Given the description of an element on the screen output the (x, y) to click on. 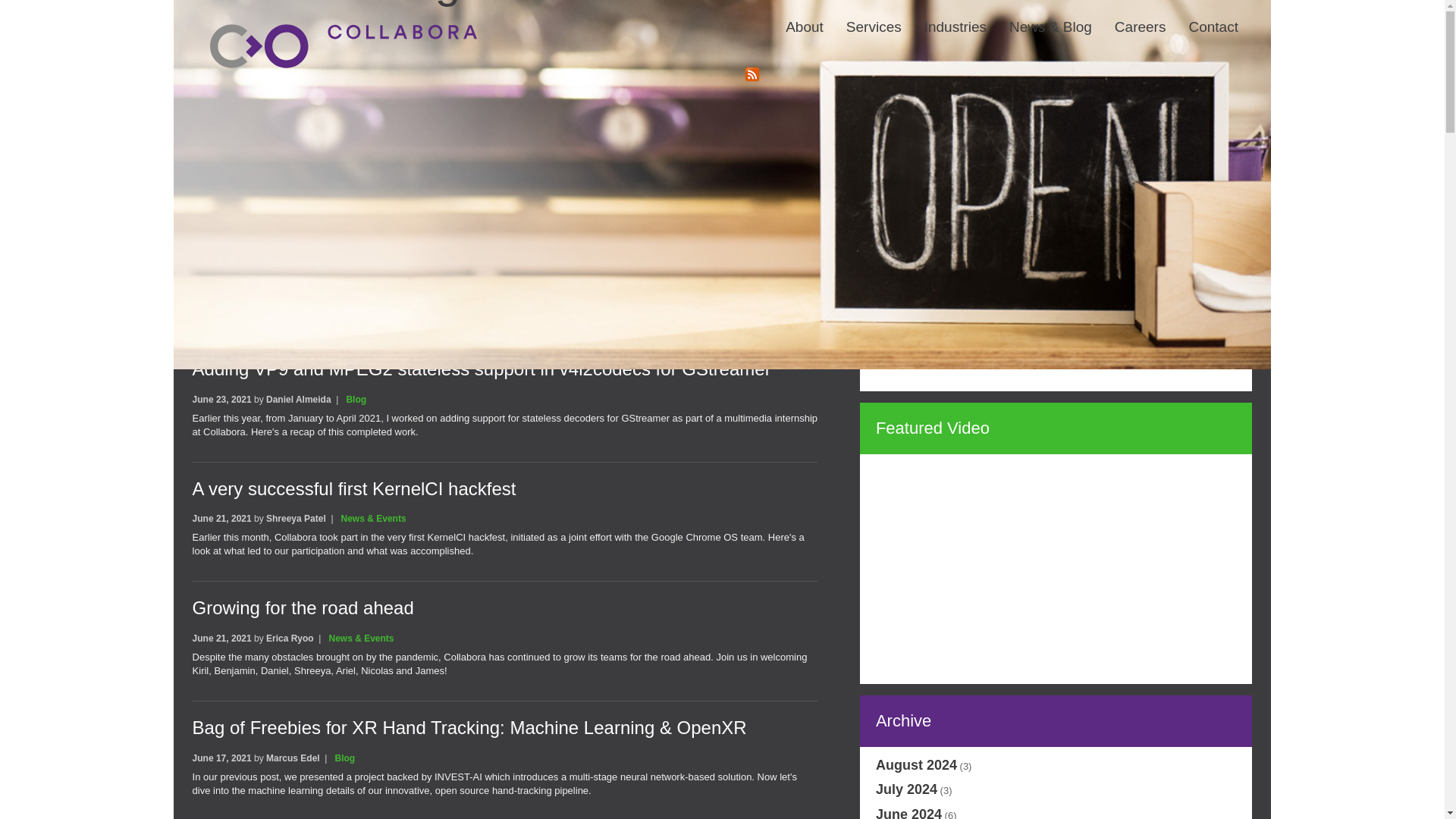
About (793, 17)
All (245, 73)
Contact (1201, 17)
Search (1203, 63)
Navigate to the About page (793, 17)
Navigate to the Services page (862, 17)
Careers (1129, 17)
Industries (944, 17)
Reverse-engineering the Mali G78 (331, 129)
Blogs (284, 73)
